Given the description of an element on the screen output the (x, y) to click on. 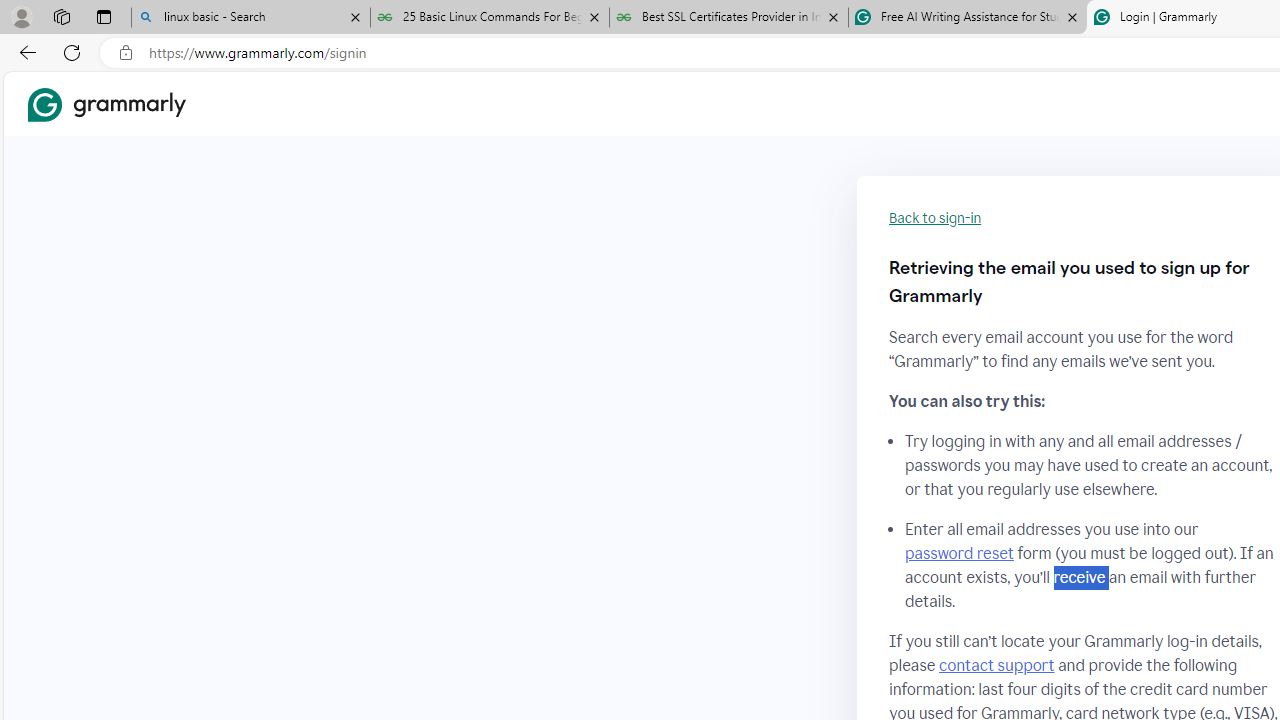
password reset (958, 553)
Grammarly Home (106, 103)
Back to sign-in (935, 218)
Free AI Writing Assistance for Students | Grammarly (967, 17)
contact support (996, 665)
linux basic - Search (250, 17)
Best SSL Certificates Provider in India - GeeksforGeeks (729, 17)
25 Basic Linux Commands For Beginners - GeeksforGeeks (490, 17)
Grammarly Home (106, 104)
